Given the description of an element on the screen output the (x, y) to click on. 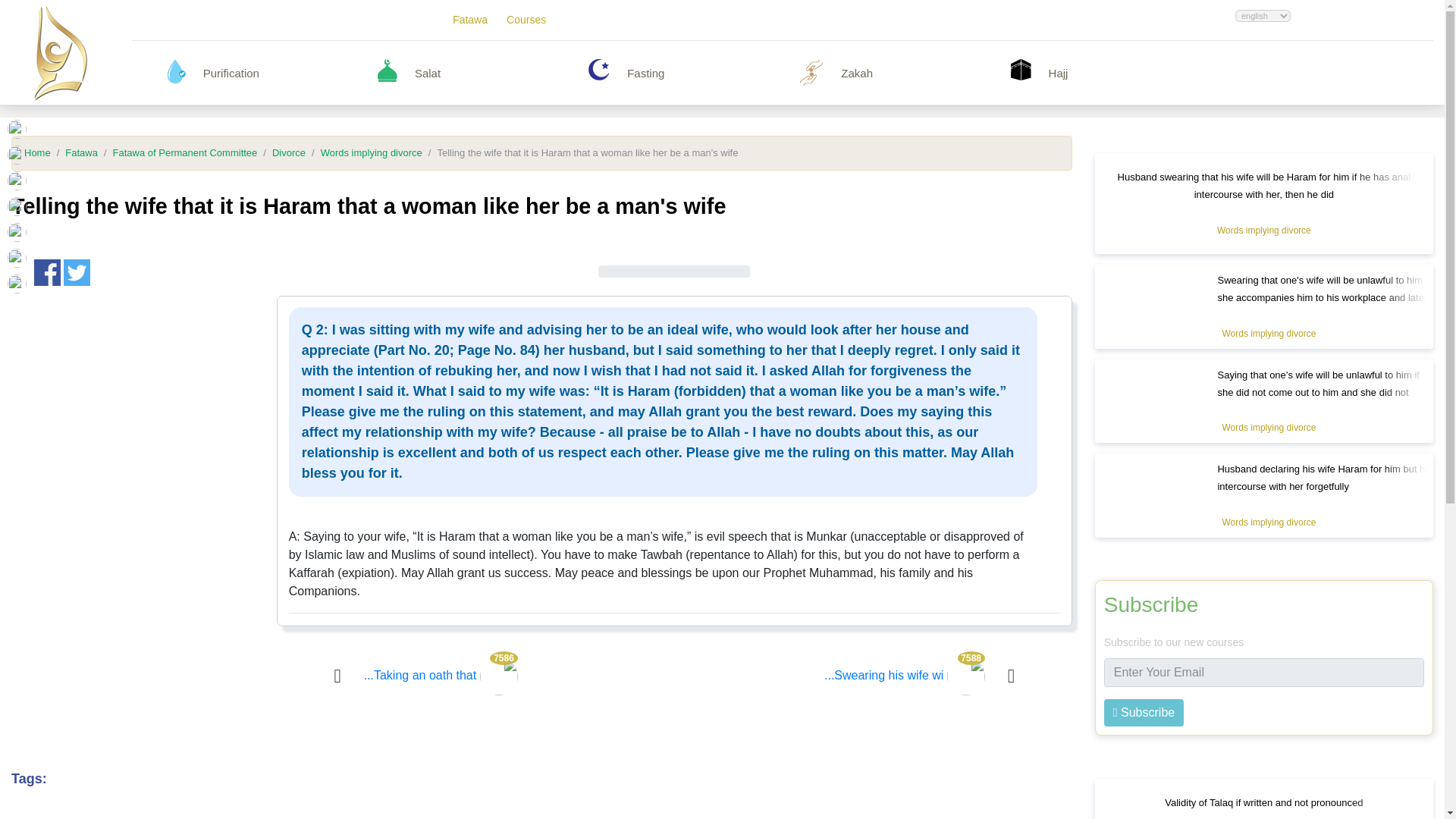
Salat (494, 73)
Fatawa (469, 19)
Words implying divorce (1268, 427)
Hajj (1020, 69)
Fasting (599, 69)
Courses (525, 19)
Fasting (707, 73)
Fatawa (73, 152)
Purification (282, 73)
Zakah (920, 73)
Home (37, 152)
